Given the description of an element on the screen output the (x, y) to click on. 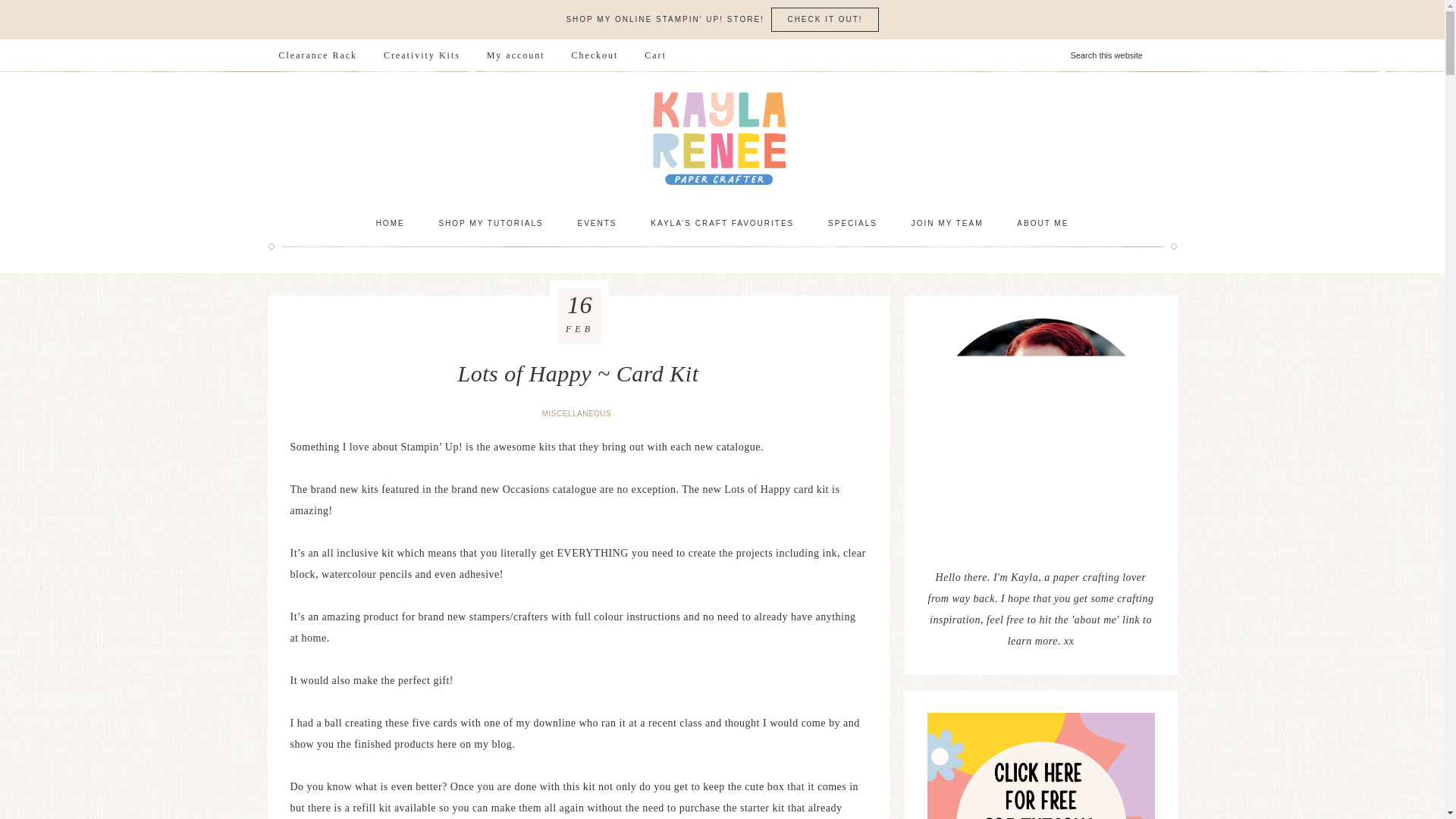
KAYLA RENEE, STAMPIN' UP! DEMONSTRATOR (722, 137)
Cart (655, 55)
SPECIALS (852, 223)
Clearance Rack (317, 55)
CHECK IT OUT! (824, 19)
My account (516, 55)
JOIN MY TEAM (947, 223)
Creativity Kits (421, 55)
